Given the description of an element on the screen output the (x, y) to click on. 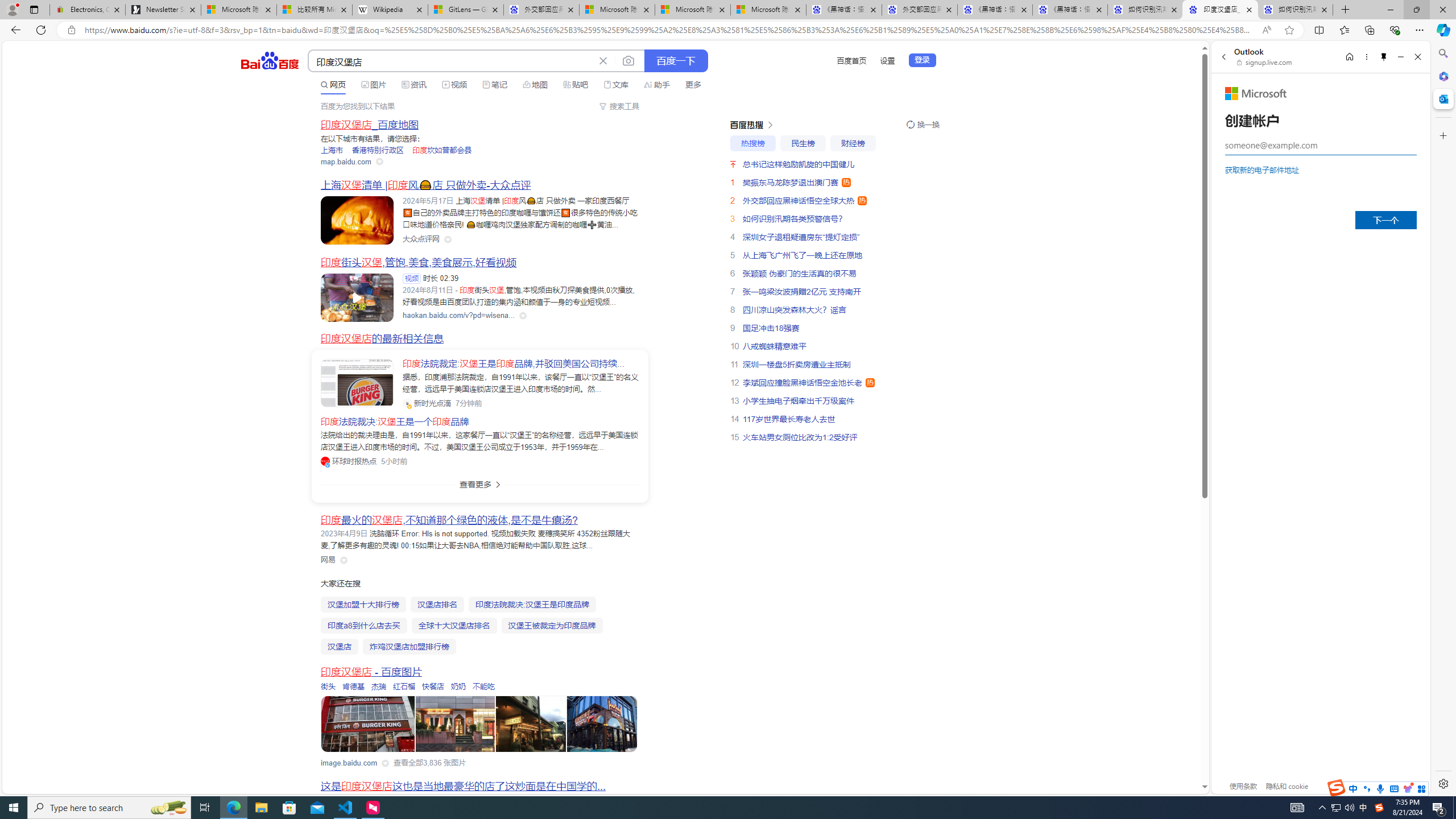
Newsletter Sign Up (162, 9)
Class: c-img c-img-radius-large (356, 382)
AutomationID: kw (451, 61)
